Given the description of an element on the screen output the (x, y) to click on. 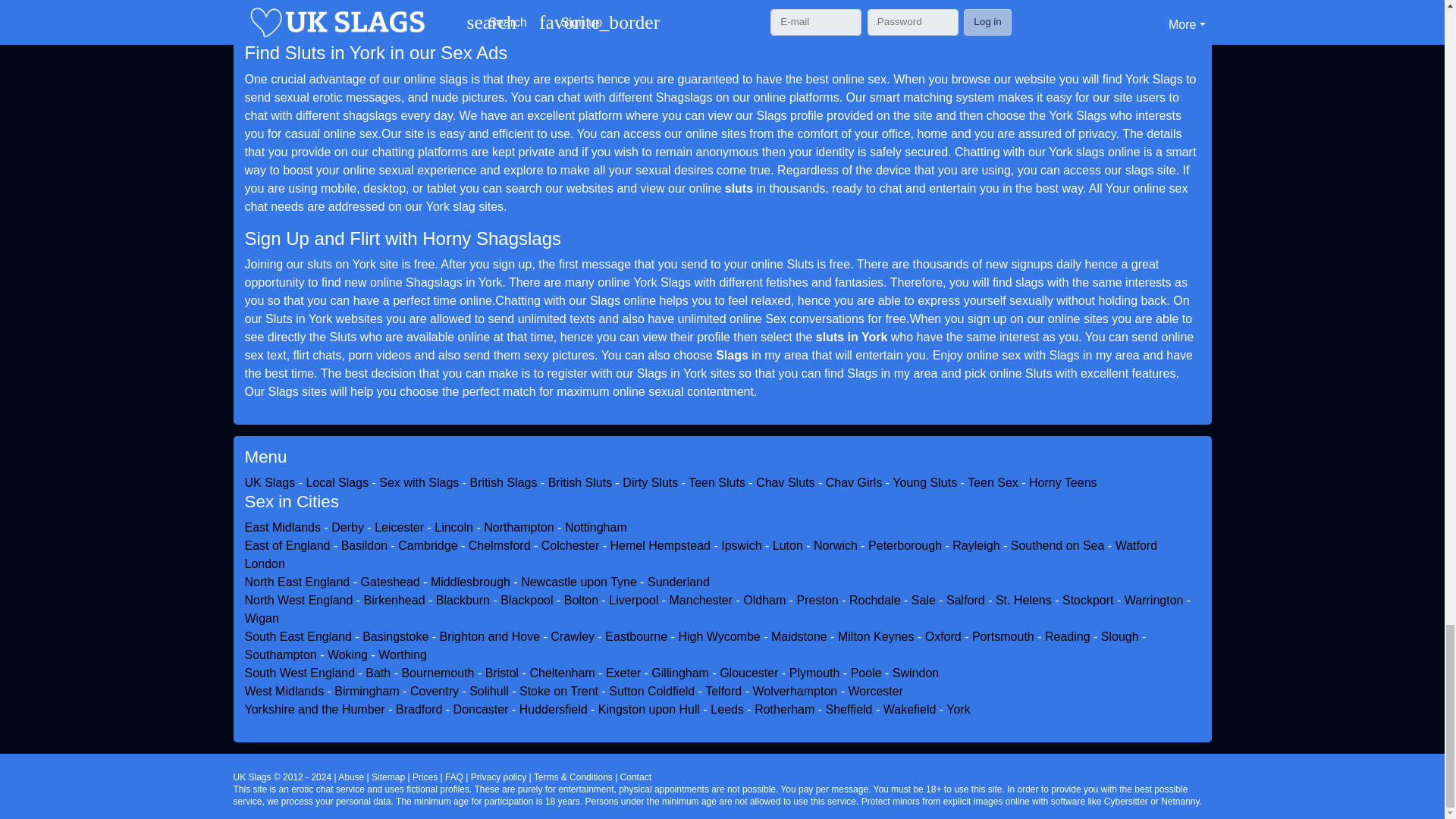
search Search (433, 4)
